Given the description of an element on the screen output the (x, y) to click on. 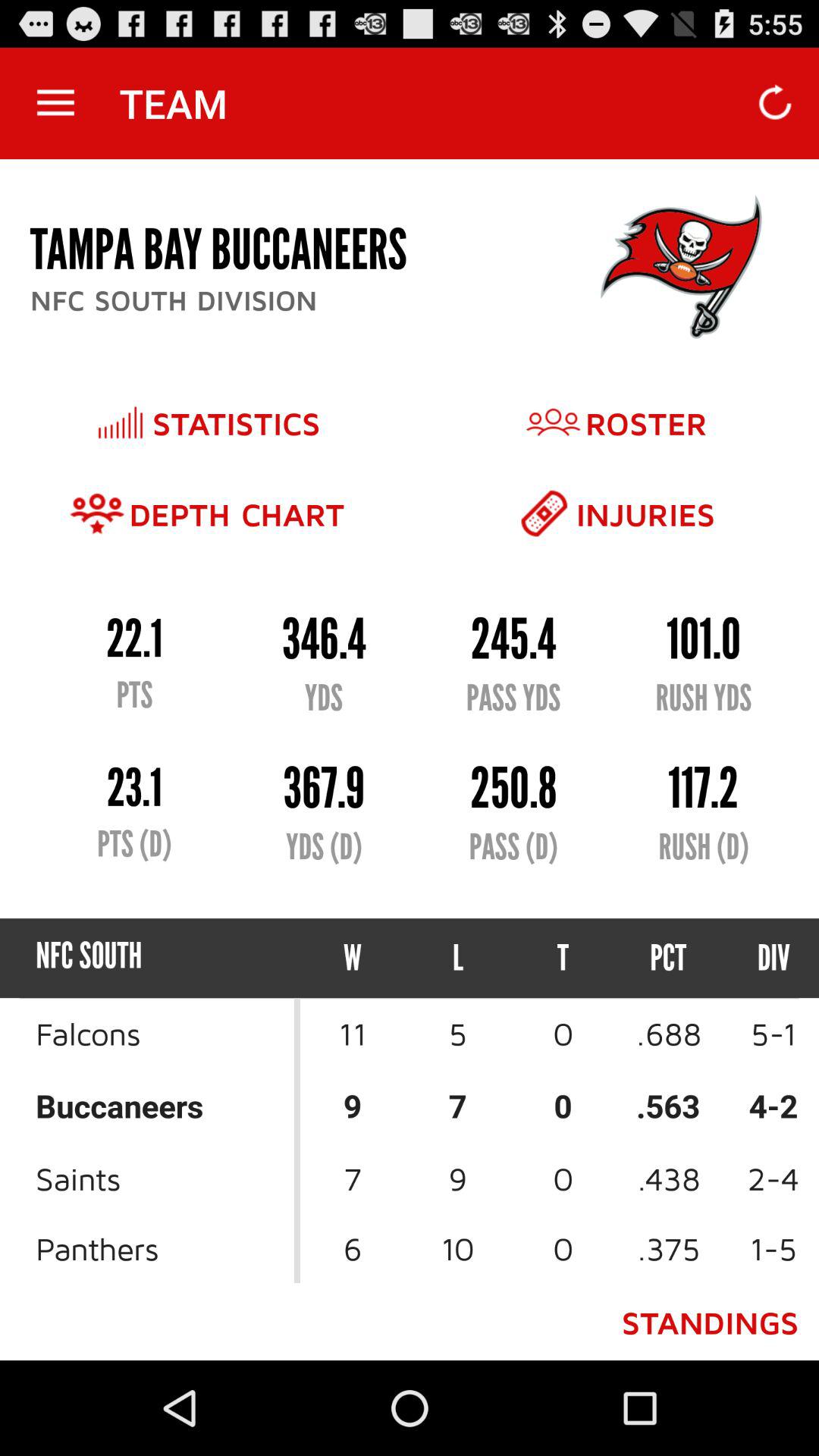
open item next to the l (352, 958)
